Given the description of an element on the screen output the (x, y) to click on. 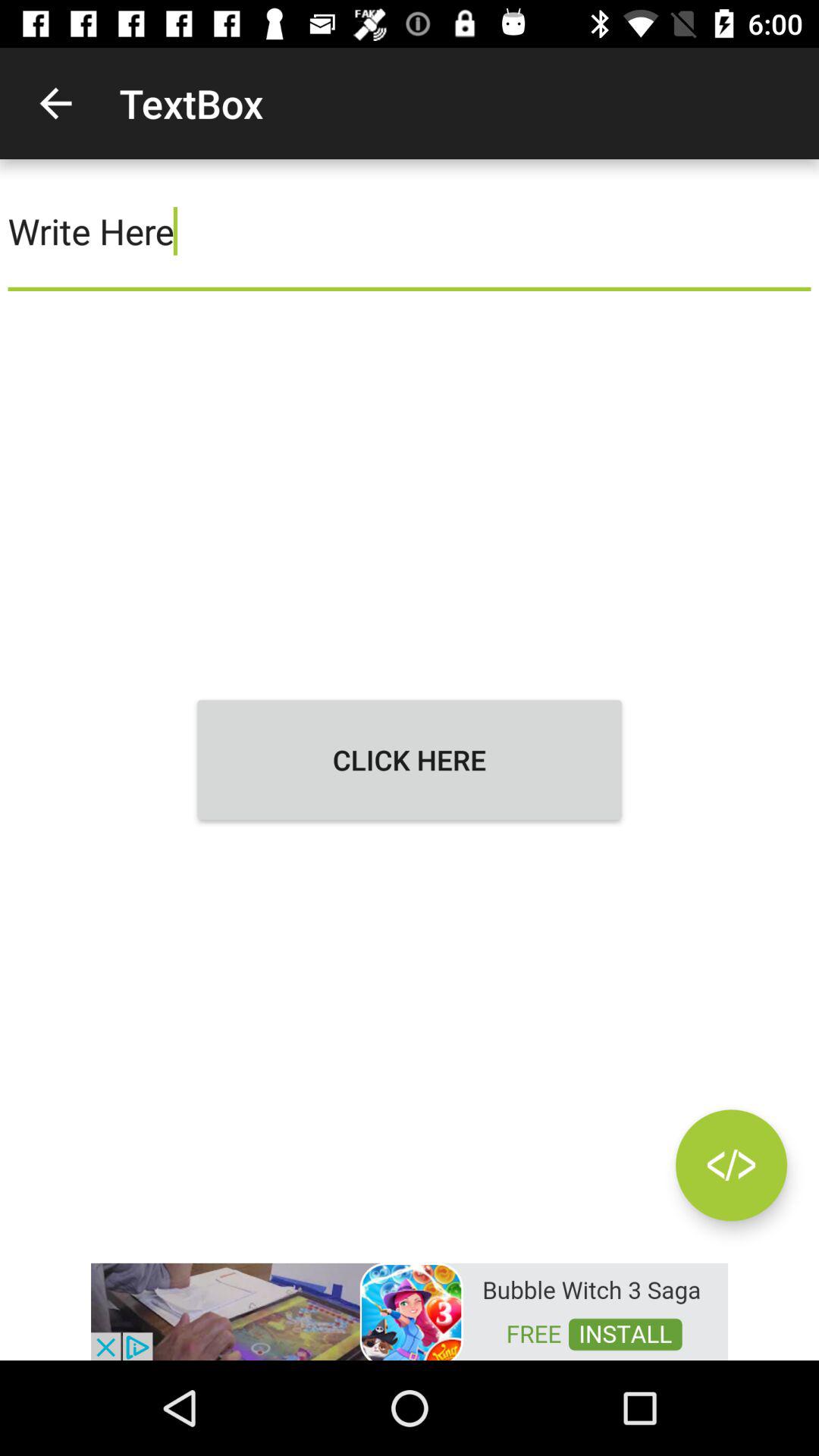
enter message (731, 1165)
